Given the description of an element on the screen output the (x, y) to click on. 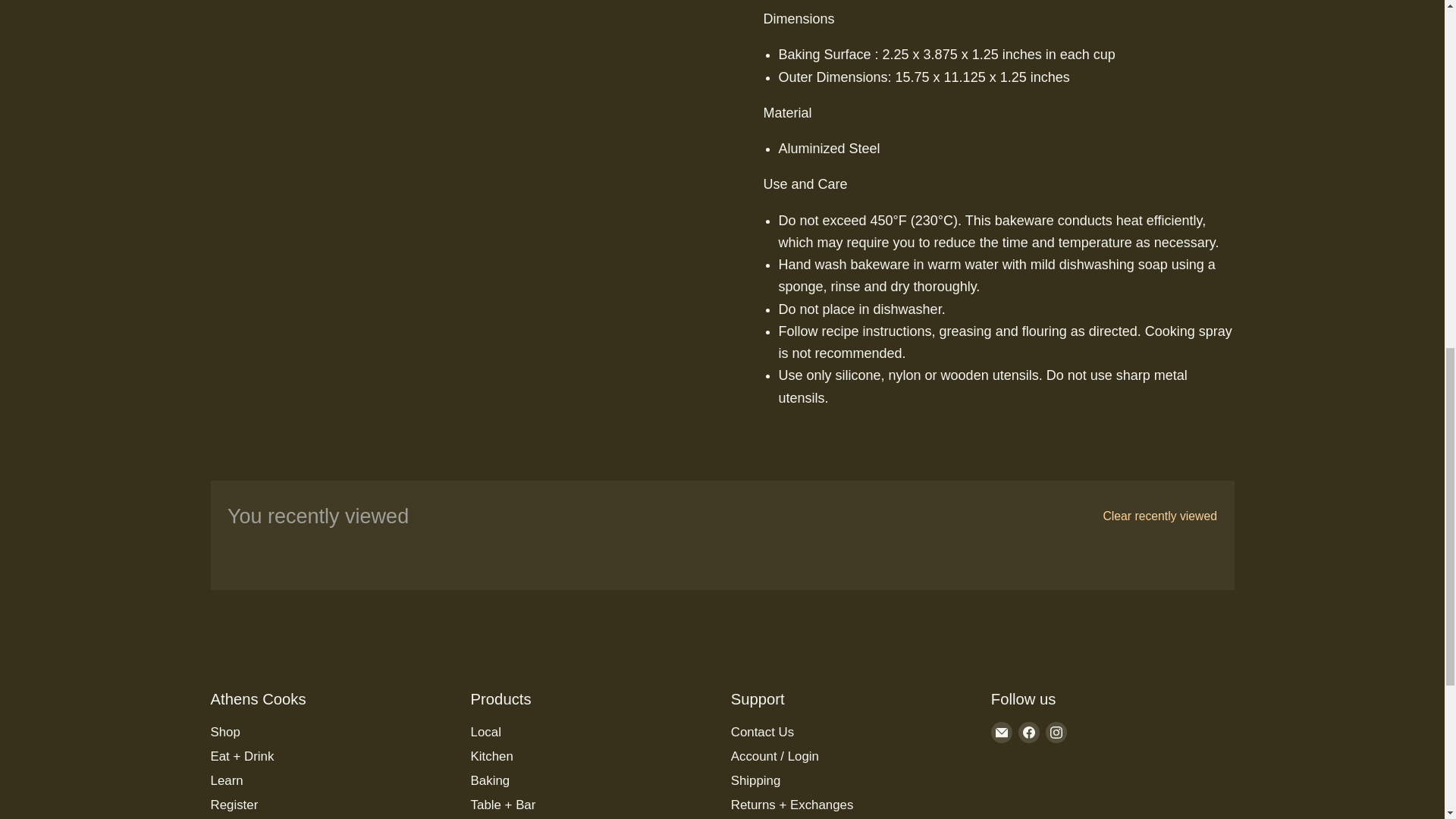
Email (1001, 731)
Instagram (1056, 731)
Facebook (1028, 731)
